Given the description of an element on the screen output the (x, y) to click on. 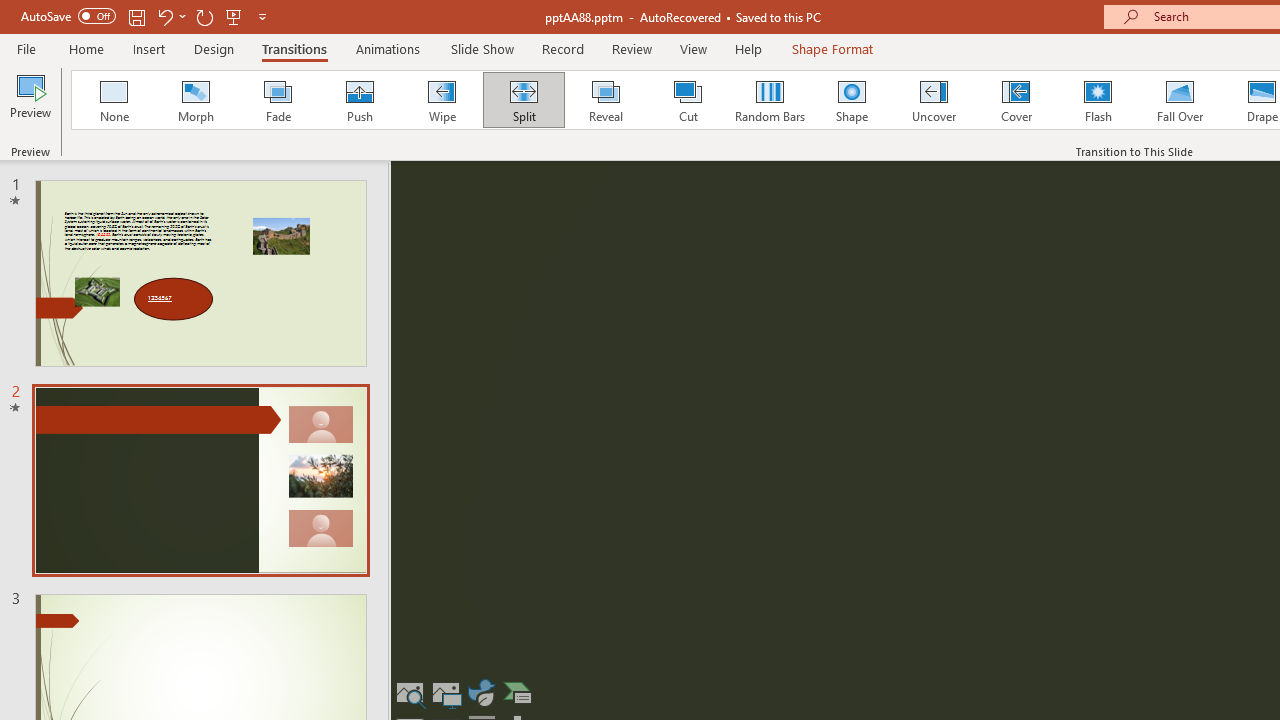
Pictures (446, 692)
Random Bars (770, 100)
Wipe (441, 100)
Slide (200, 480)
Reveal (605, 100)
None (113, 100)
Morph (195, 100)
